Given the description of an element on the screen output the (x, y) to click on. 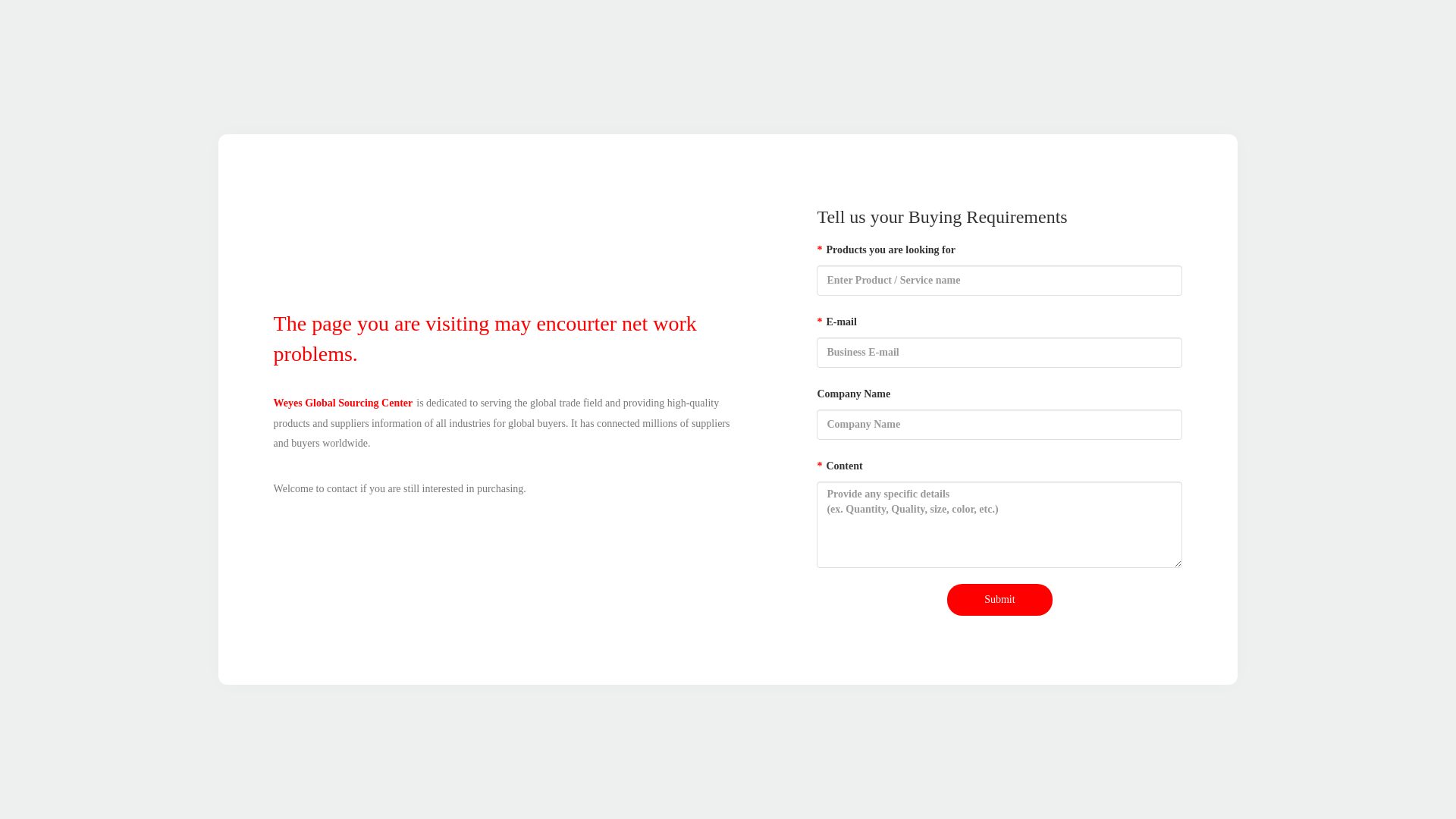
Submit (999, 599)
